Given the description of an element on the screen output the (x, y) to click on. 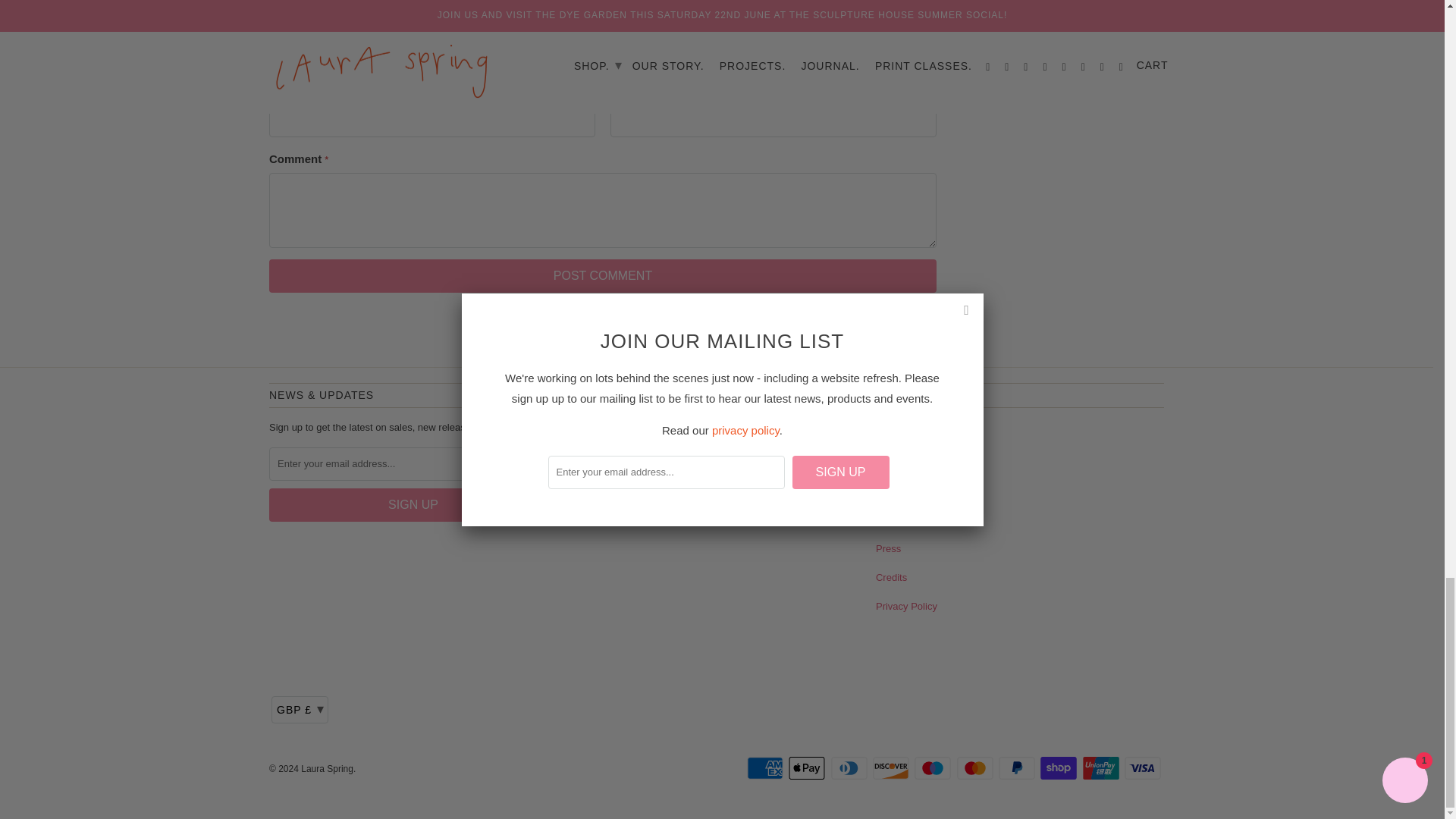
Visa (1143, 767)
Shop Pay (1060, 767)
Post comment (602, 275)
Apple Pay (808, 767)
Discover (892, 767)
PayPal (1018, 767)
American Express (766, 767)
Mastercard (975, 767)
Union Pay (1102, 767)
Sign Up (413, 504)
Diners Club (850, 767)
Maestro (933, 767)
